Given the description of an element on the screen output the (x, y) to click on. 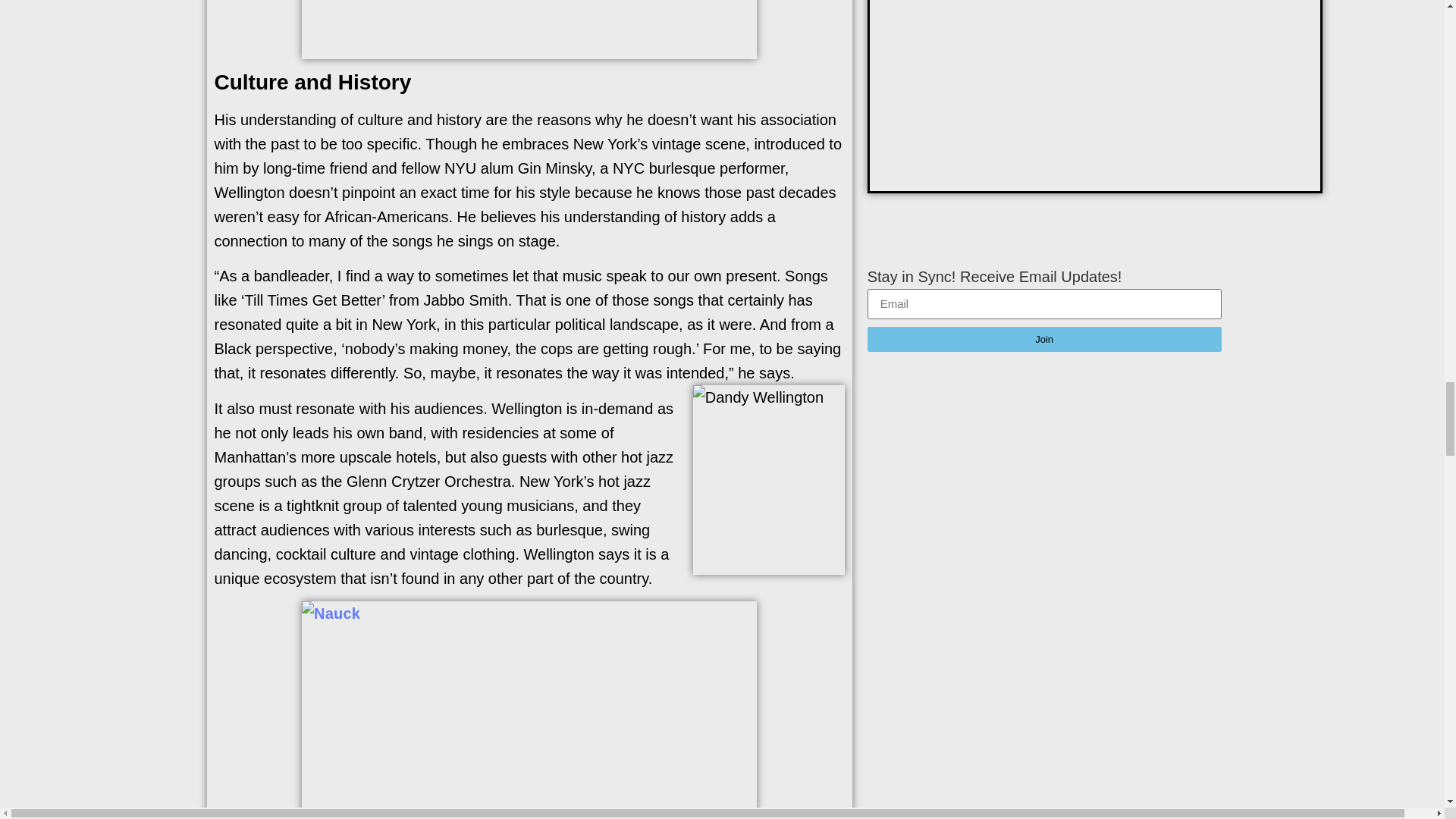
Central PA Ragtime Festival (529, 29)
78RPM (529, 710)
